Given the description of an element on the screen output the (x, y) to click on. 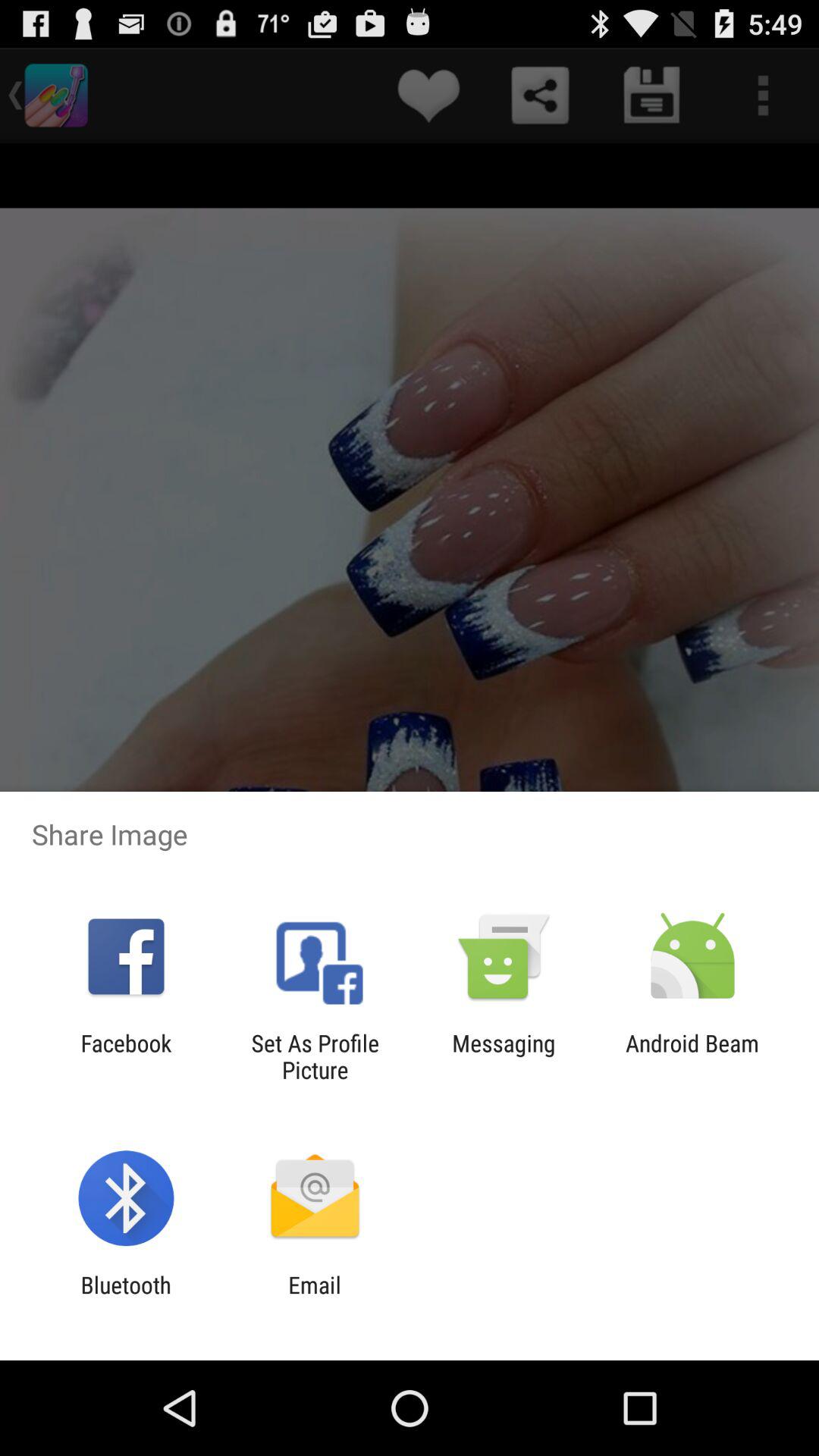
press the android beam (692, 1056)
